Given the description of an element on the screen output the (x, y) to click on. 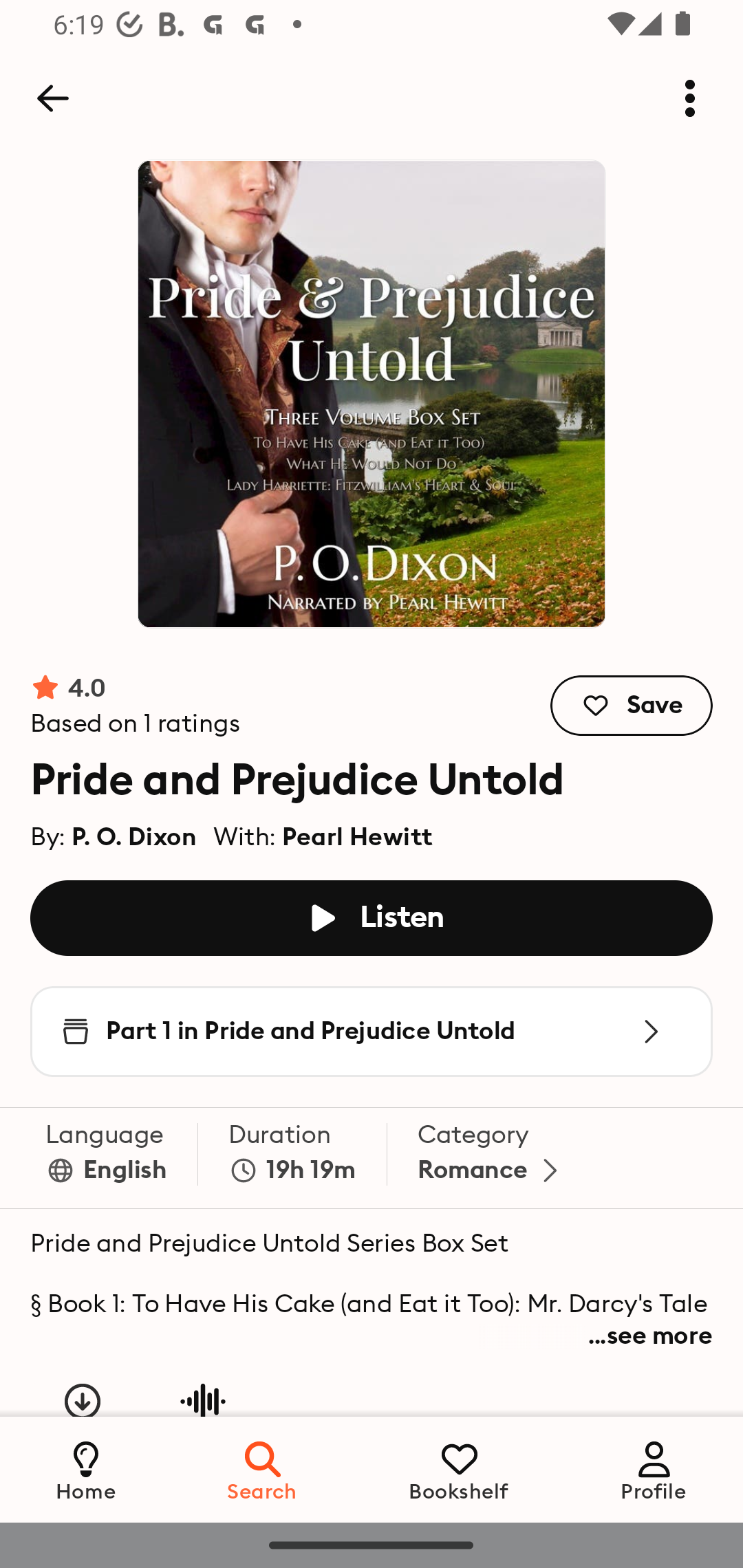
Back (52, 98)
More options (689, 98)
Rating 4.0 stars, out of 1 ratings (135, 705)
Save Save to bookshelf (631, 705)
By: P. O. Dixon (114, 832)
With: Pearl Hewitt (323, 832)
Listen Listen to book (371, 917)
Part 1 in Pride and Prejudice Untold (371, 1031)
Category Romance (491, 1158)
Download book (82, 1415)
Play sample (202, 1415)
Home (85, 1468)
Search (262, 1468)
Bookshelf (458, 1468)
Profile (653, 1468)
